Given the description of an element on the screen output the (x, y) to click on. 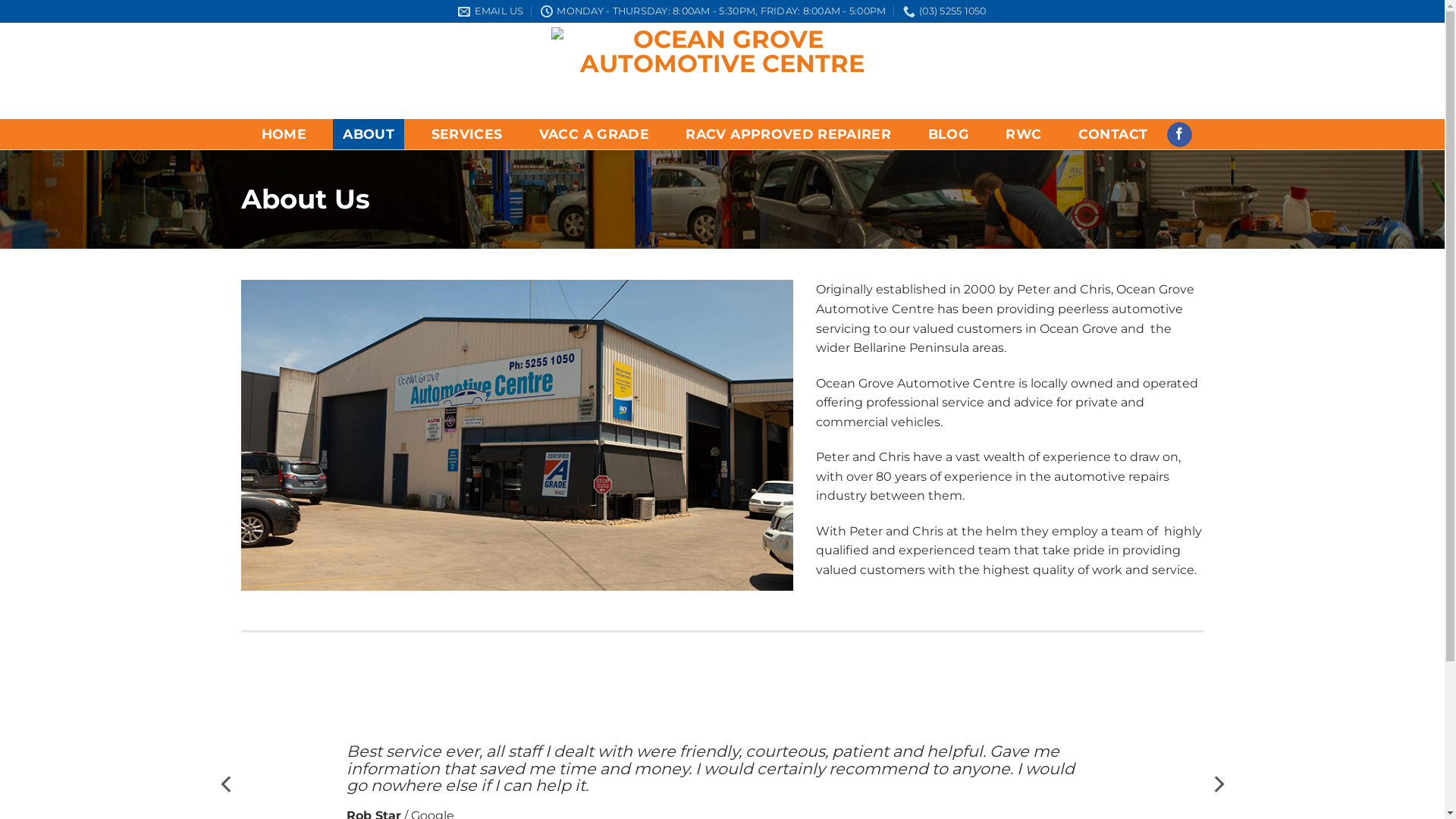
SERVICES Element type: text (465, 134)
RWC Element type: text (1023, 134)
BLOG Element type: text (948, 134)
HOME Element type: text (283, 134)
CONTACT Element type: text (1112, 134)
VACC A GRADE Element type: text (594, 134)
RACV APPROVED REPAIRER Element type: text (787, 134)
(03) 5255 1050 Element type: text (944, 11)
MONDAY - THURSDAY: 8:00AM - 5:30PM, FRIDAY: 8:00AM - 5:00PM Element type: text (712, 11)
ABOUT Element type: text (368, 134)
EMAIL US Element type: text (490, 11)
